Given the description of an element on the screen output the (x, y) to click on. 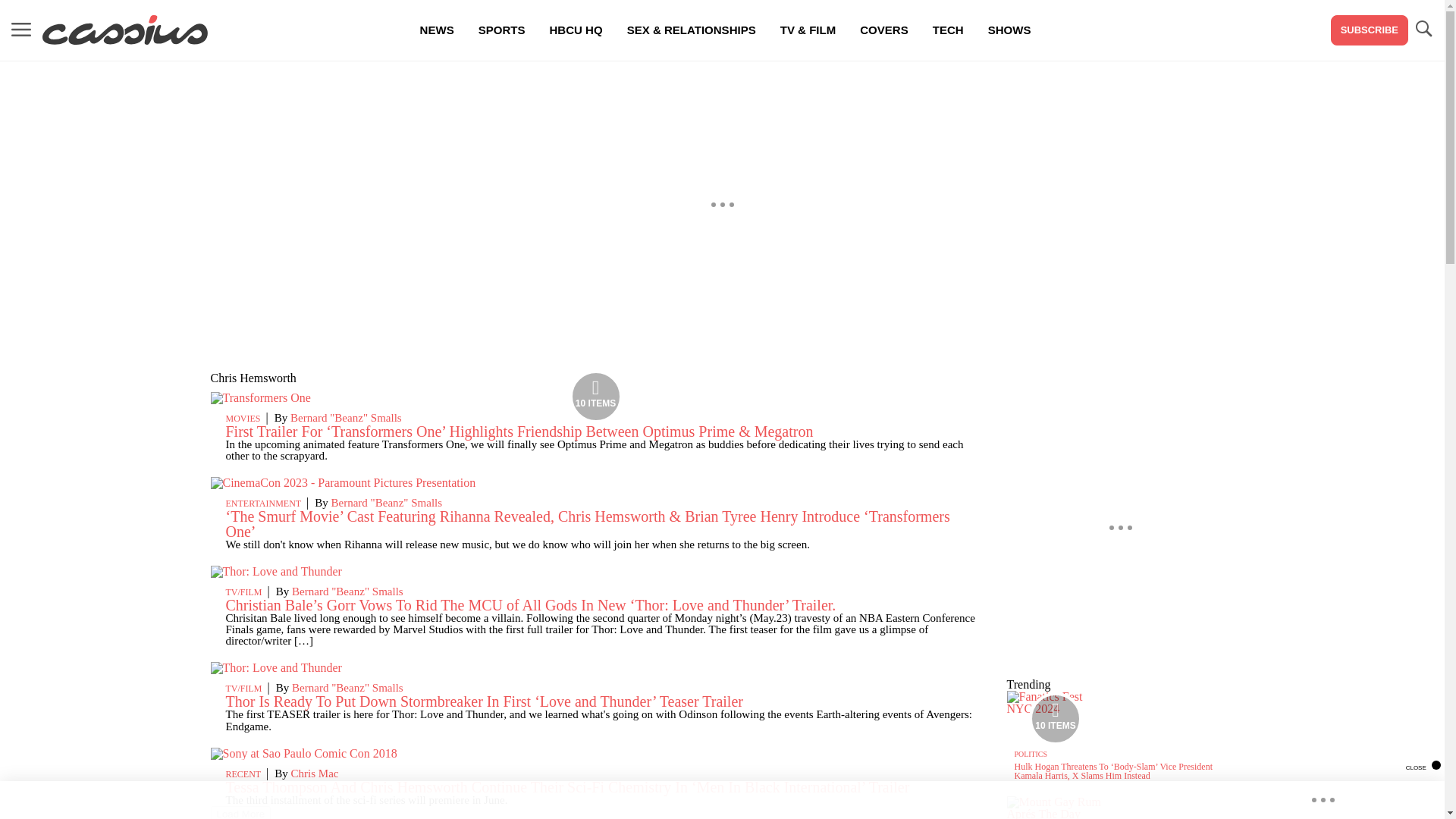
Load More (240, 812)
NEWS (436, 30)
SHOWS (1009, 30)
SPORTS (501, 30)
10 ITEMS (261, 397)
HBCU HQ (575, 30)
Load More (240, 812)
TECH (947, 30)
POLITICS (1030, 754)
SUBSCRIBE (1368, 30)
